Given the description of an element on the screen output the (x, y) to click on. 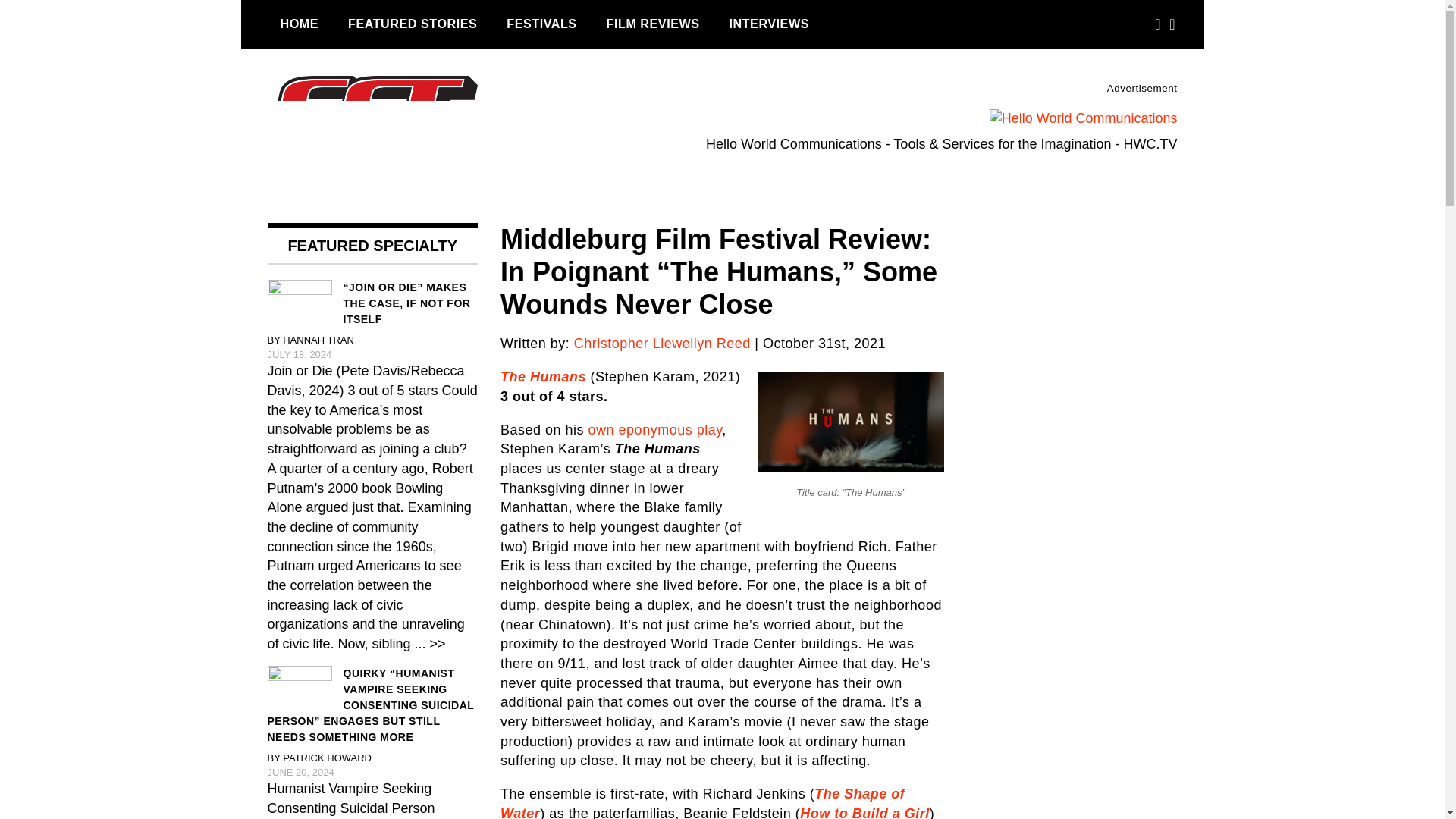
FILM REVIEWS (653, 23)
Film Festival Today (352, 234)
HOME (298, 23)
How to Build a Girl (864, 812)
Christopher Llewellyn Reed (662, 343)
own eponymous play (655, 428)
The Humans (543, 376)
INTERVIEWS (769, 23)
FESTIVALS (541, 23)
FEATURED STORIES (411, 23)
The Shape of Water (702, 802)
